Given the description of an element on the screen output the (x, y) to click on. 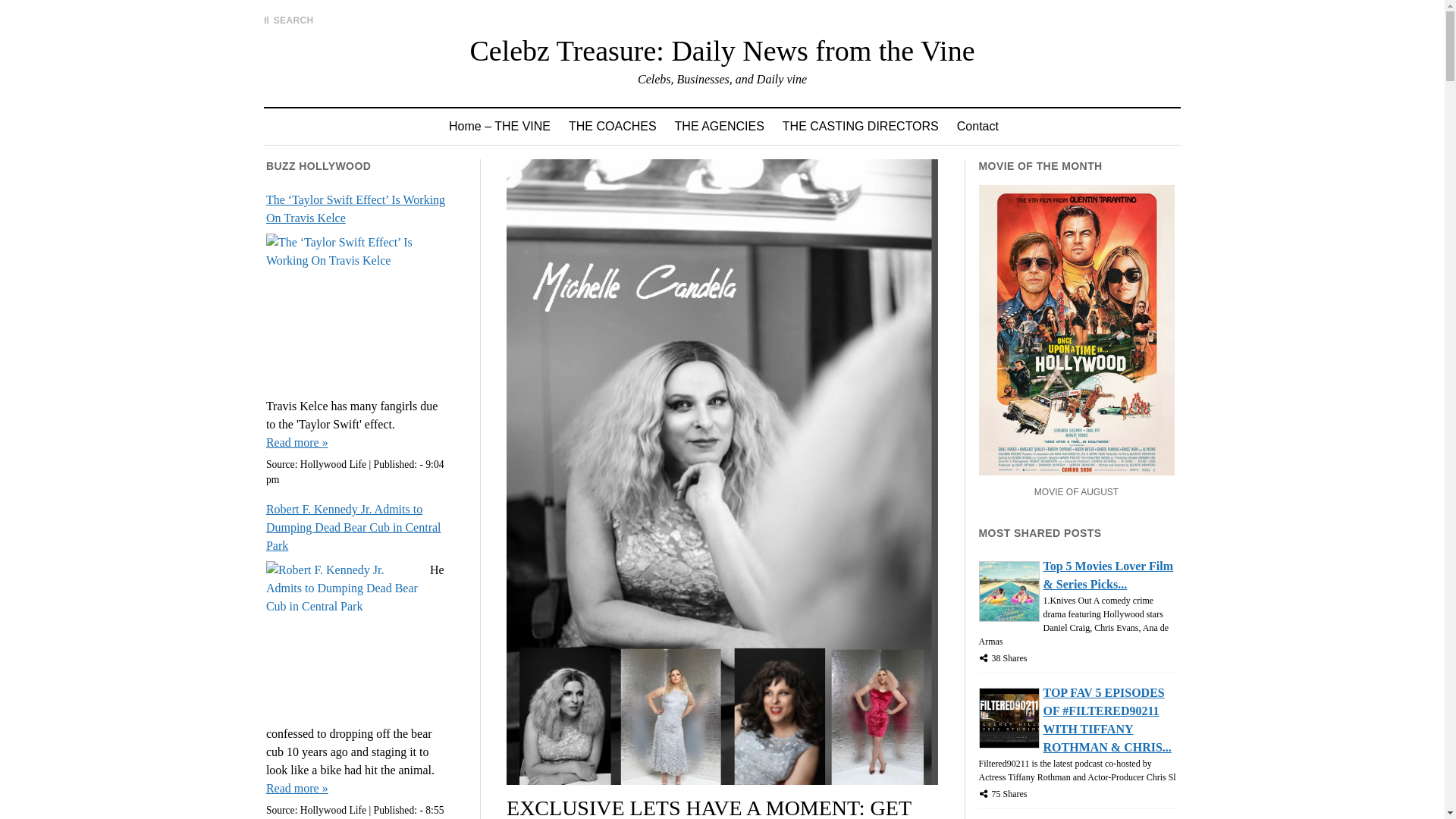
SEARCH (288, 20)
Celebz Treasure: Daily News from the Vine (721, 50)
THE CASTING DIRECTORS (860, 126)
THE COACHES (612, 126)
Search (945, 129)
THE AGENCIES (719, 126)
Contact (977, 126)
